Given the description of an element on the screen output the (x, y) to click on. 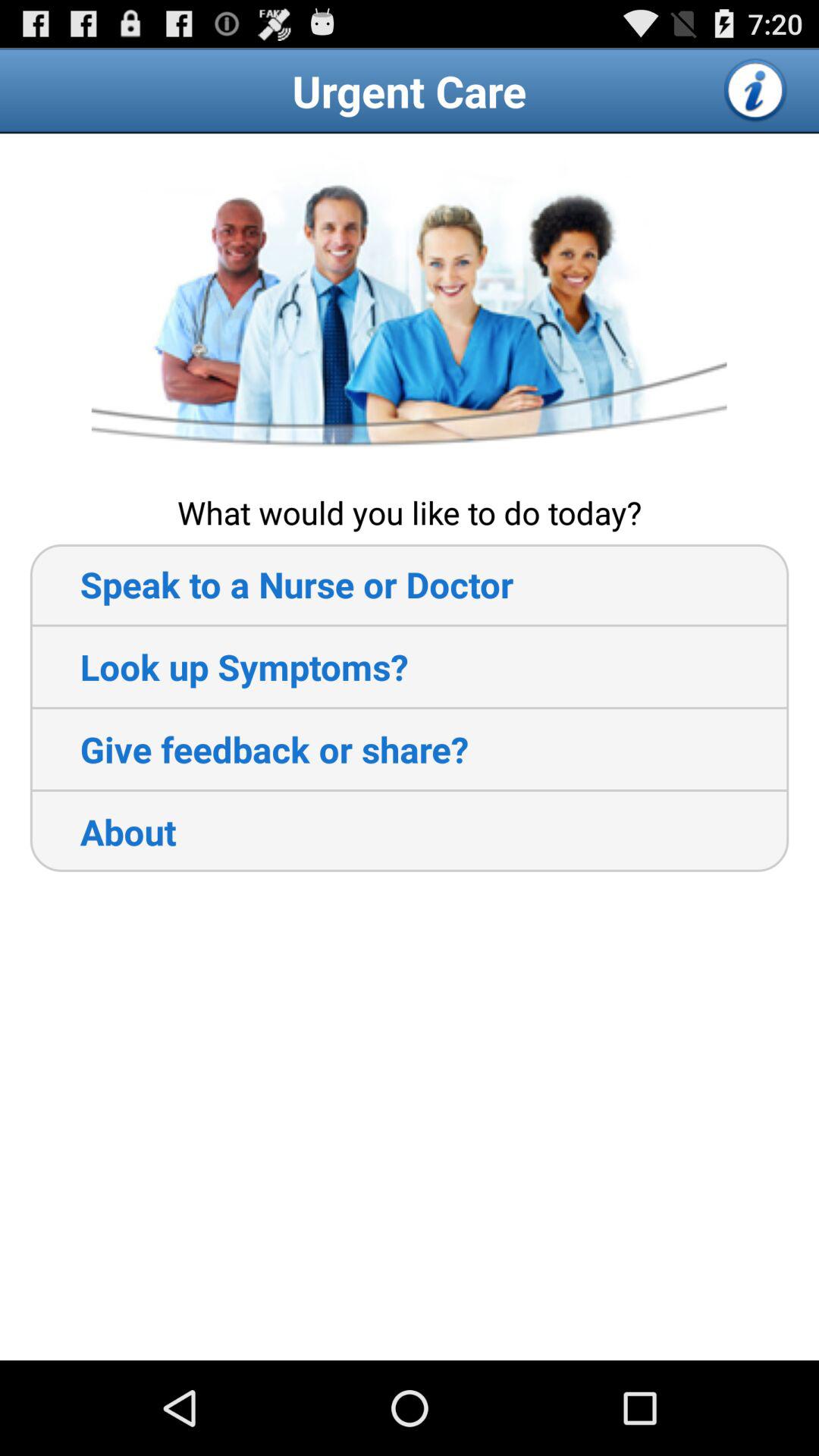
information (756, 90)
